Given the description of an element on the screen output the (x, y) to click on. 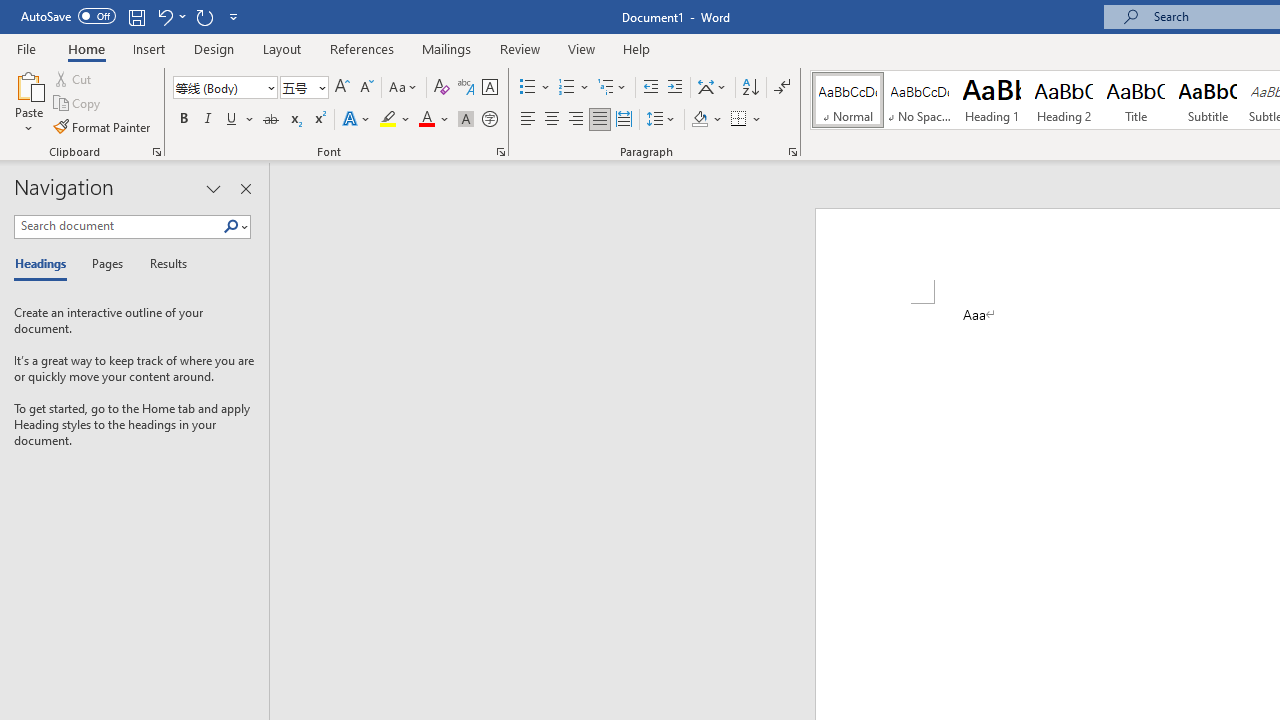
Superscript (319, 119)
Text Highlight Color (395, 119)
Distributed (623, 119)
Bold (183, 119)
Line and Paragraph Spacing (661, 119)
Align Left (527, 119)
Subscript (294, 119)
Increase Indent (675, 87)
